Given the description of an element on the screen output the (x, y) to click on. 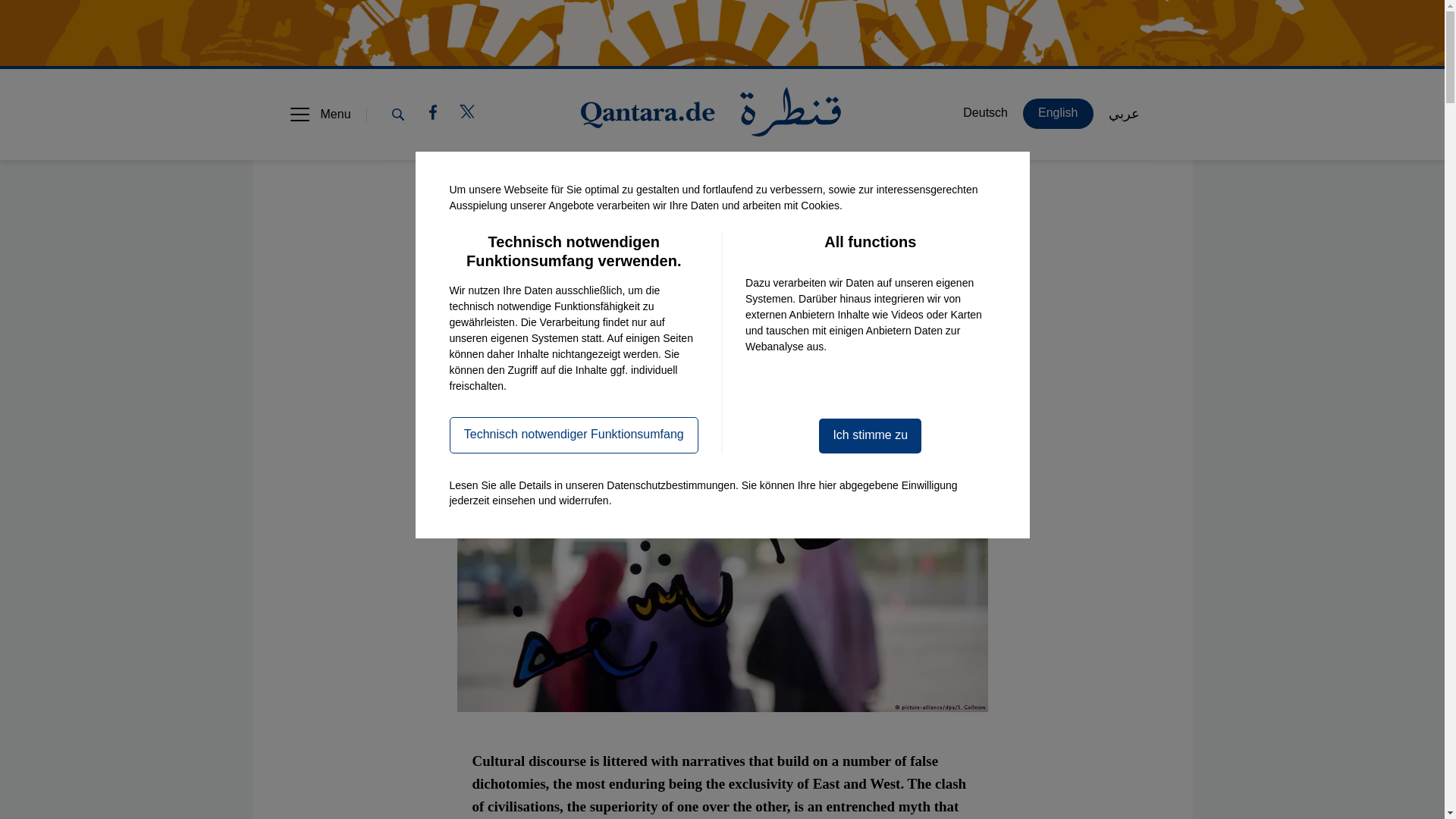
Deutsch (509, 358)
English (1058, 113)
Deutsch (985, 113)
Home (710, 113)
English (581, 358)
